Given the description of an element on the screen output the (x, y) to click on. 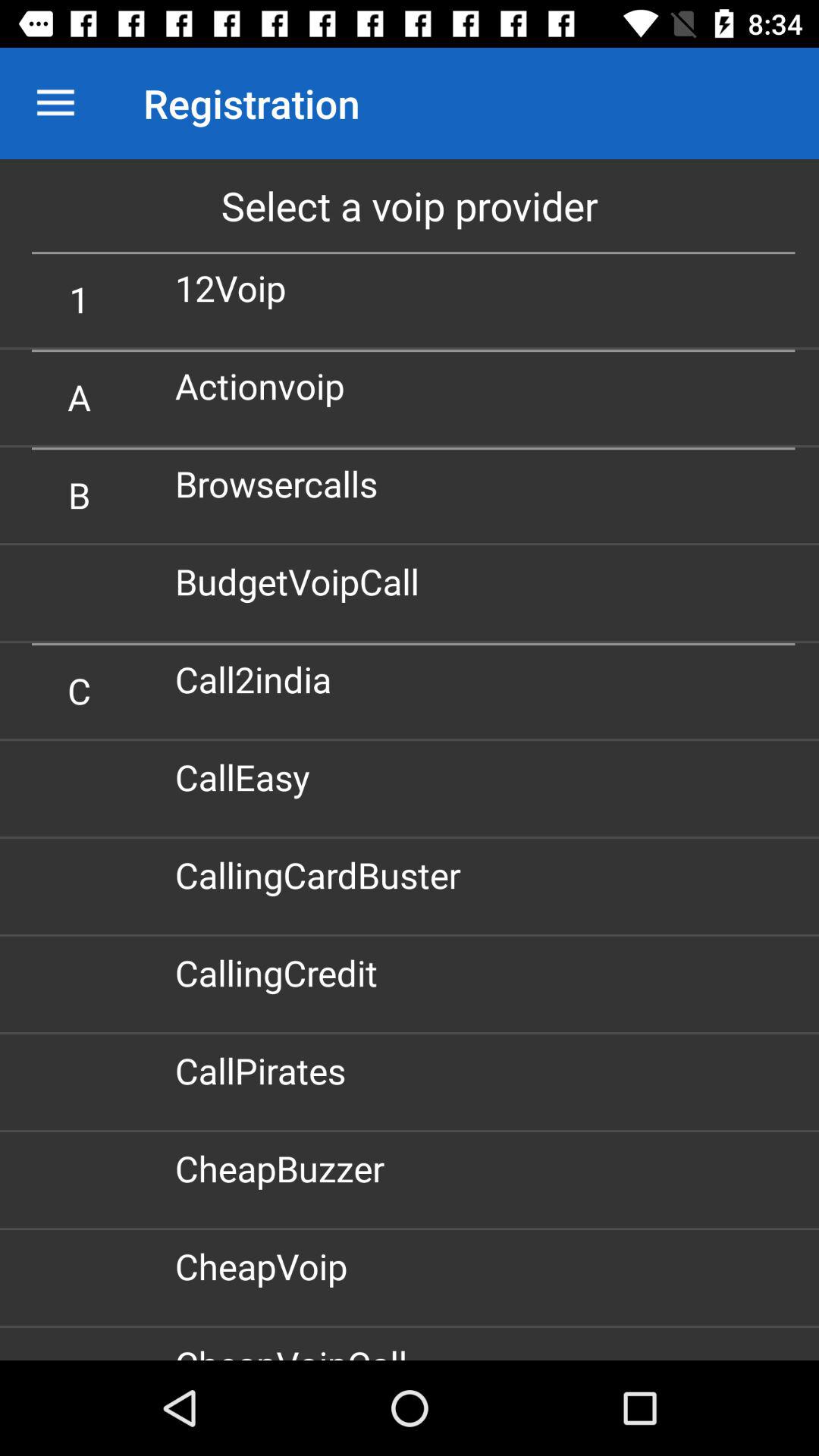
flip until calleasy item (248, 777)
